Given the description of an element on the screen output the (x, y) to click on. 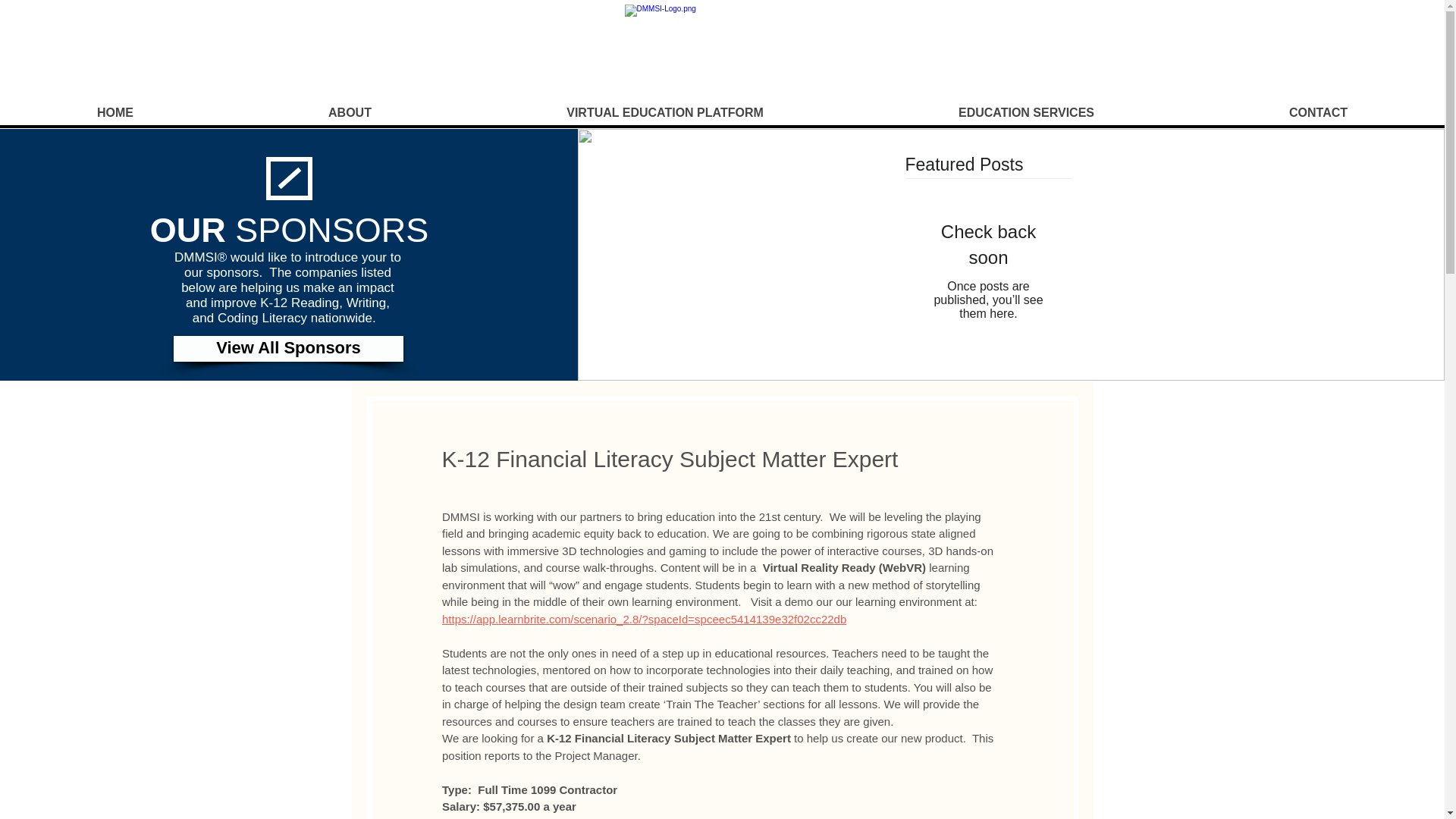
ABOUT (349, 112)
EDUCATION SERVICES (1025, 112)
View All Sponsors (288, 347)
VIRTUAL EDUCATION PLATFORM (664, 112)
HOME (115, 112)
